Given the description of an element on the screen output the (x, y) to click on. 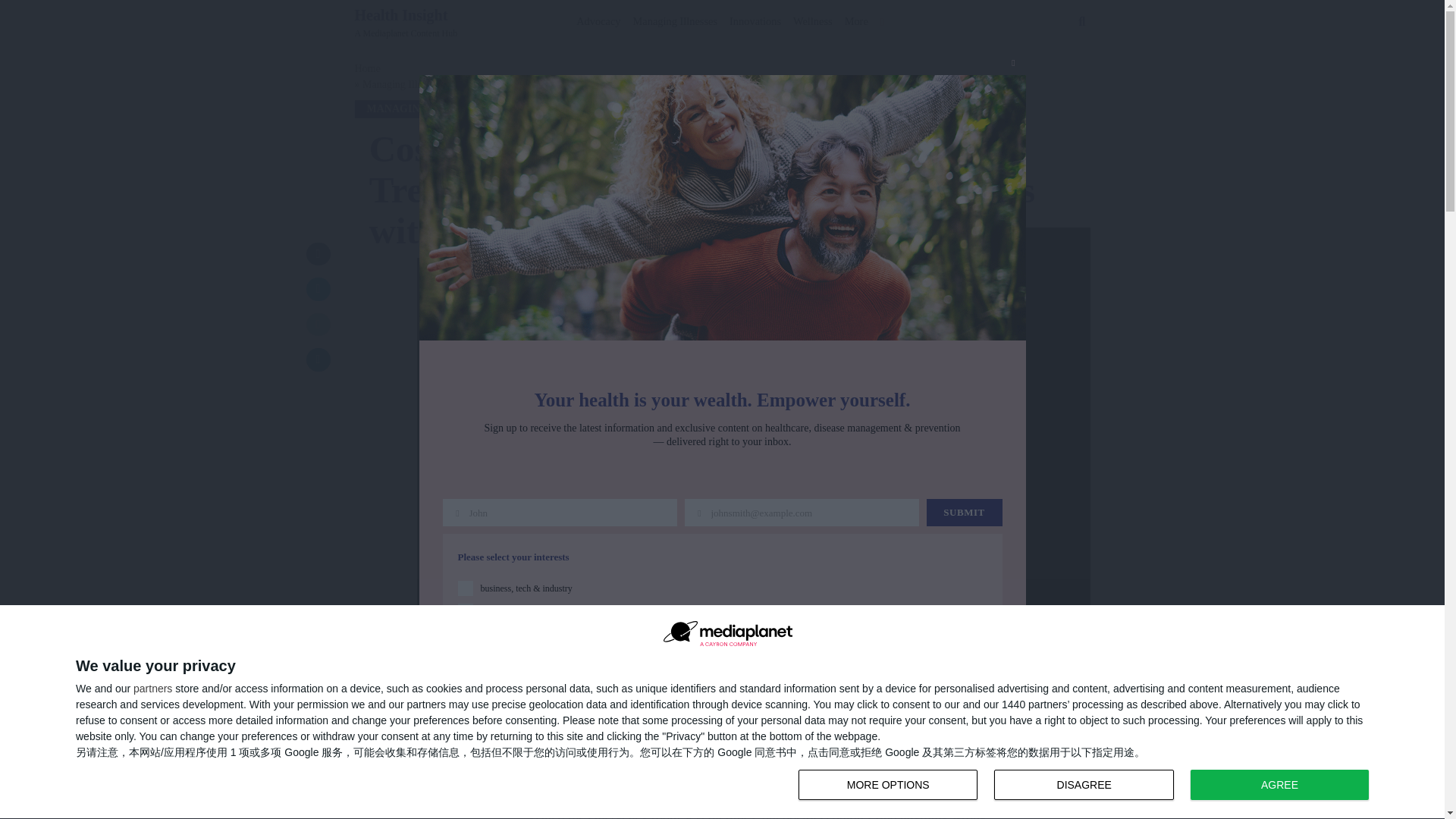
AGREE (1279, 784)
Innovations (755, 18)
DISAGREE (406, 22)
Wellness (1083, 784)
MORE OPTIONS (812, 18)
partners (886, 784)
Managing Illnesses (152, 688)
Advocacy (675, 18)
More (1086, 785)
